Given the description of an element on the screen output the (x, y) to click on. 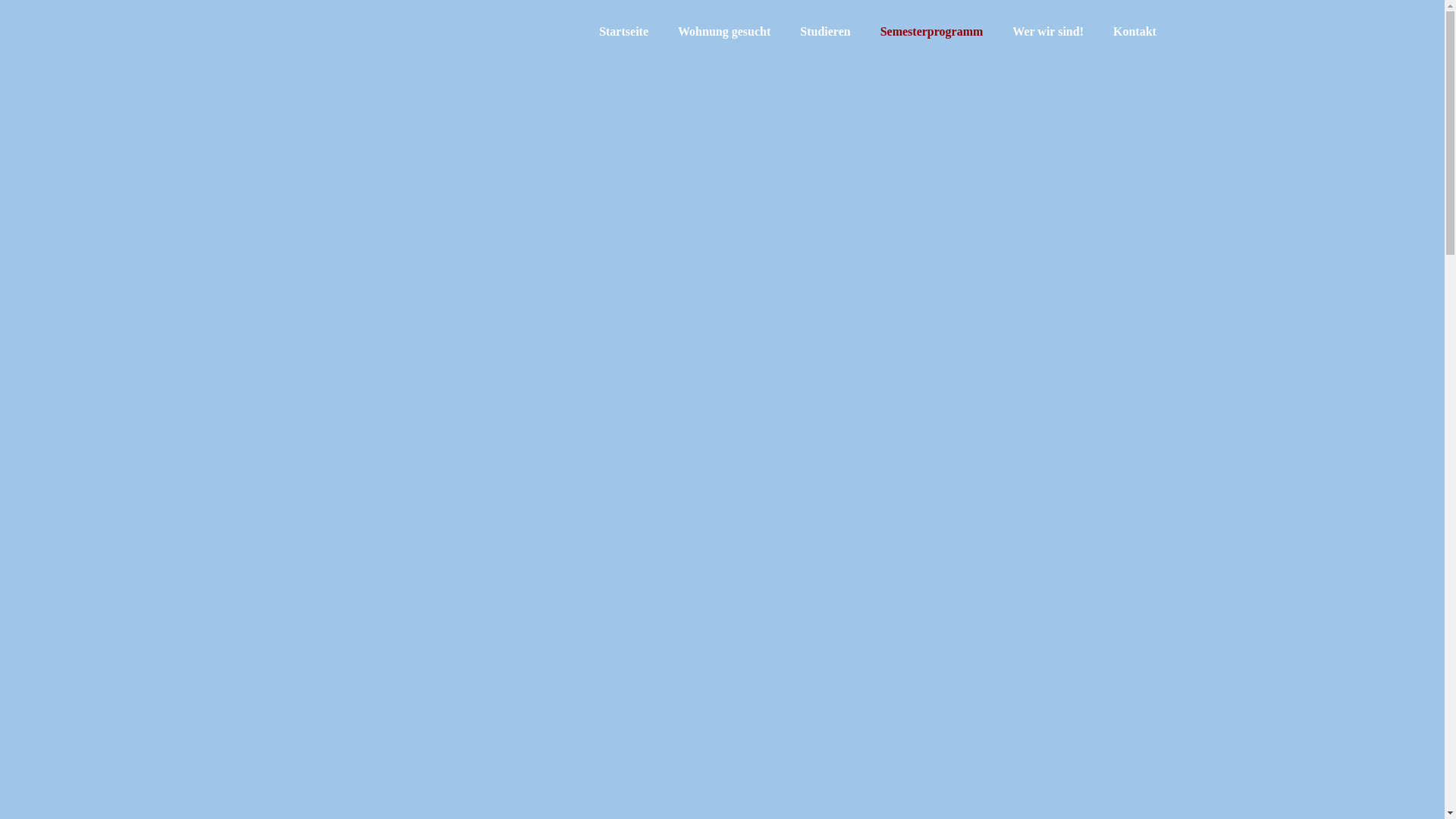
Wer wir sind! Element type: text (1047, 31)
Kontakt Element type: text (1134, 31)
Semesterprogramm Element type: text (931, 31)
Wohnung gesucht Element type: text (724, 31)
Startseite Element type: text (623, 31)
Studieren Element type: text (824, 31)
